Given the description of an element on the screen output the (x, y) to click on. 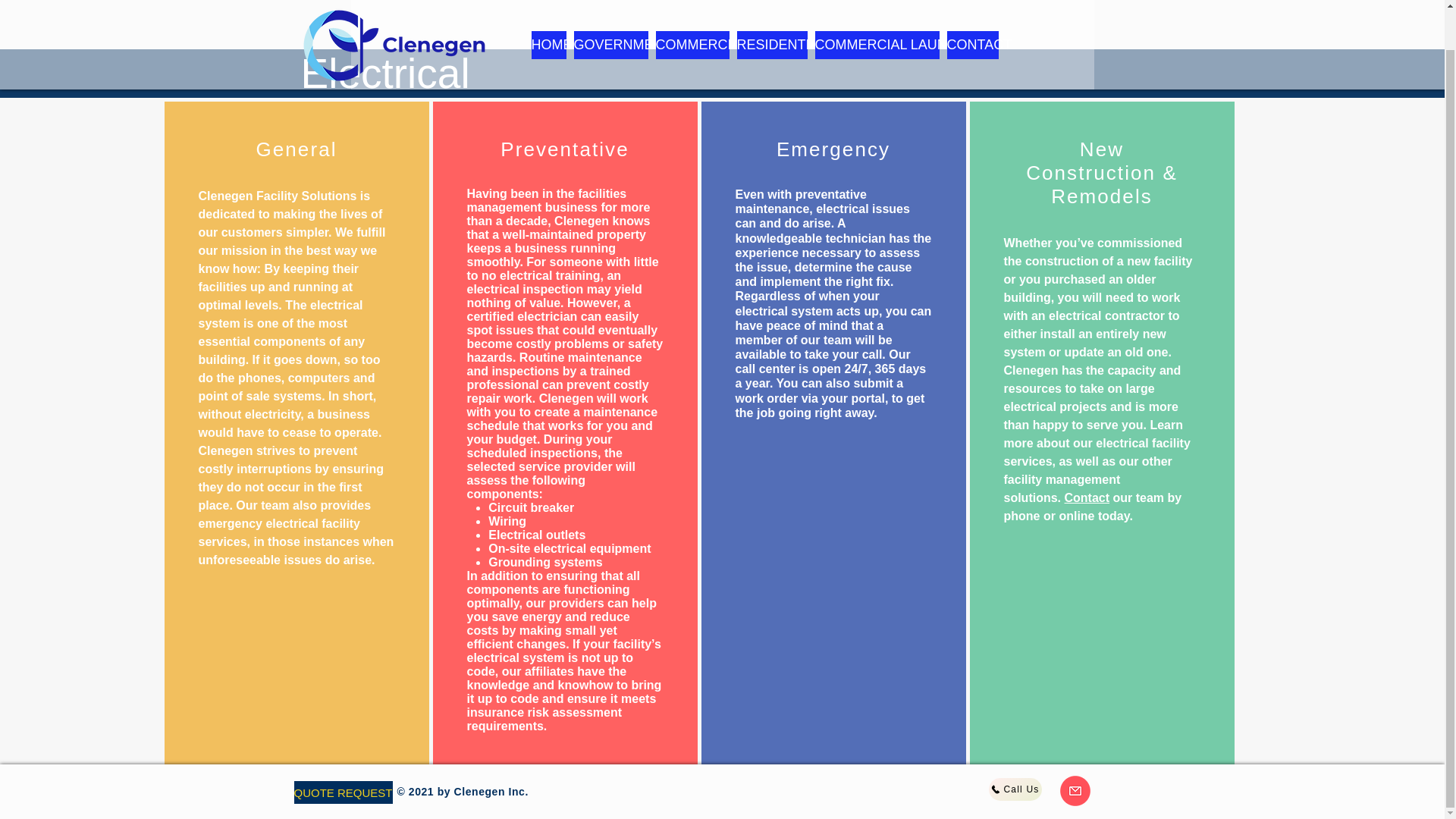
RESIDENTIAL (772, 8)
Contact (1086, 497)
QUOTE REQUEST (343, 792)
GOVERNMENT (610, 8)
HOME (548, 8)
CONTACT (971, 8)
COMMERCIAL LAUNDRY (876, 8)
Call Us (1015, 789)
COMMERCIAL (692, 8)
